Given the description of an element on the screen output the (x, y) to click on. 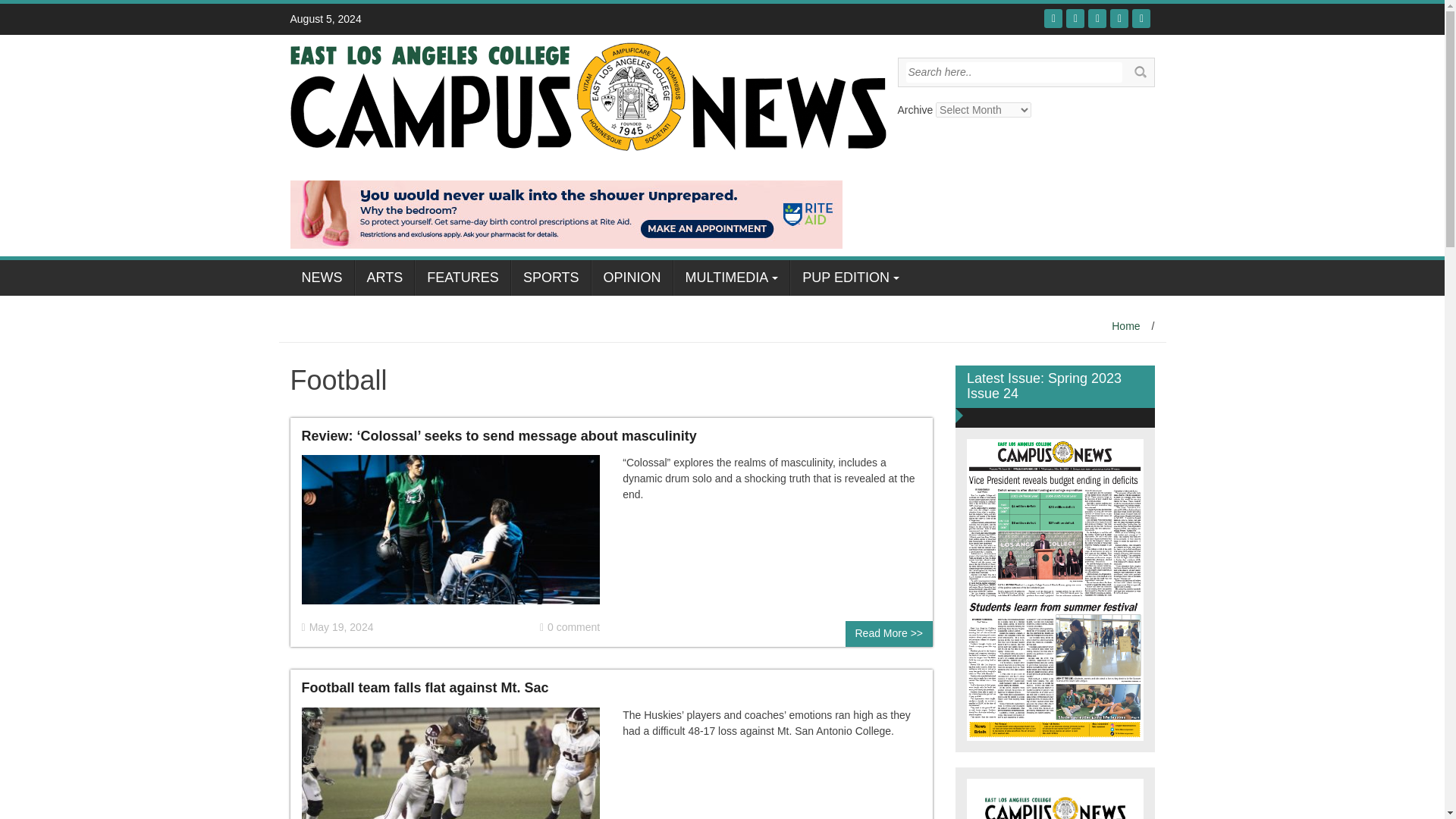
SPORTS (551, 277)
Twitter (1074, 18)
OPINION (631, 277)
Youtube (1096, 18)
0 comment (569, 627)
Instagram (1118, 18)
PUP EDITION (850, 277)
Home (1126, 326)
Email (1141, 18)
East Los Angeles College Campus News (587, 95)
Football team falls flat against Mt. Sac (450, 788)
Facebook (1052, 18)
FEATURES (462, 277)
MULTIMEDIA (731, 277)
ARTS (384, 277)
